Given the description of an element on the screen output the (x, y) to click on. 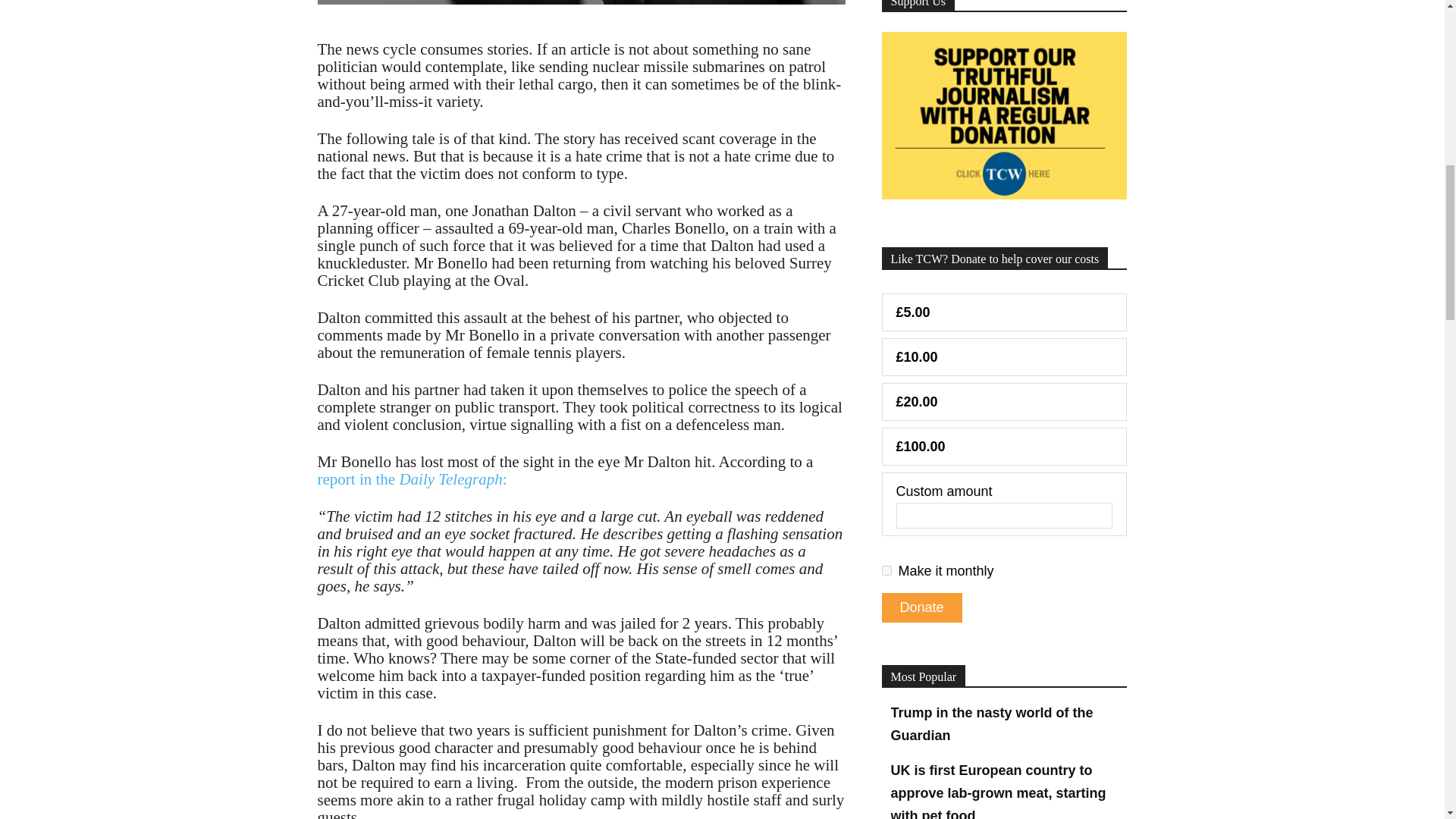
month (885, 570)
